Given the description of an element on the screen output the (x, y) to click on. 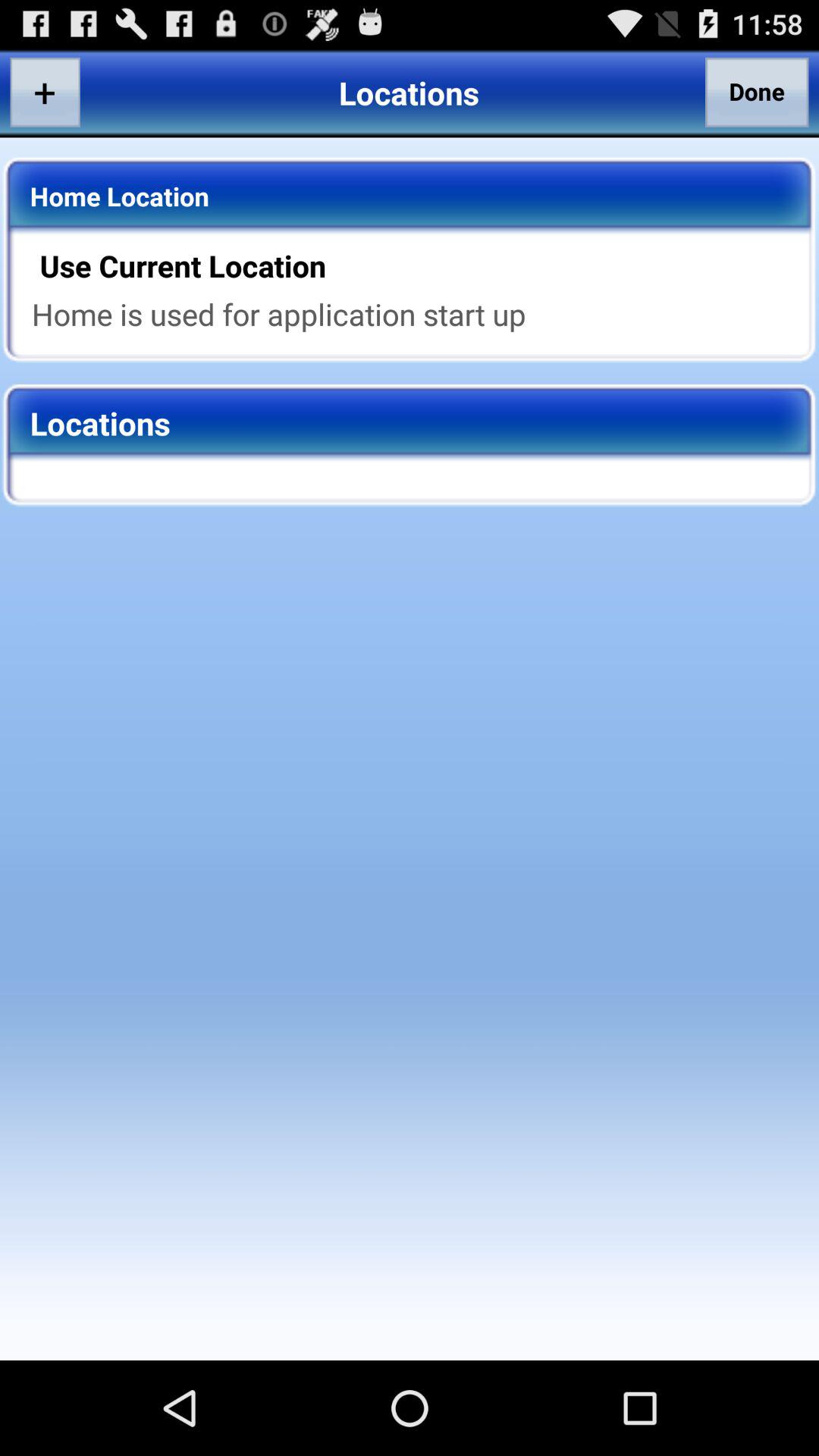
launch the app below home location (419, 265)
